Given the description of an element on the screen output the (x, y) to click on. 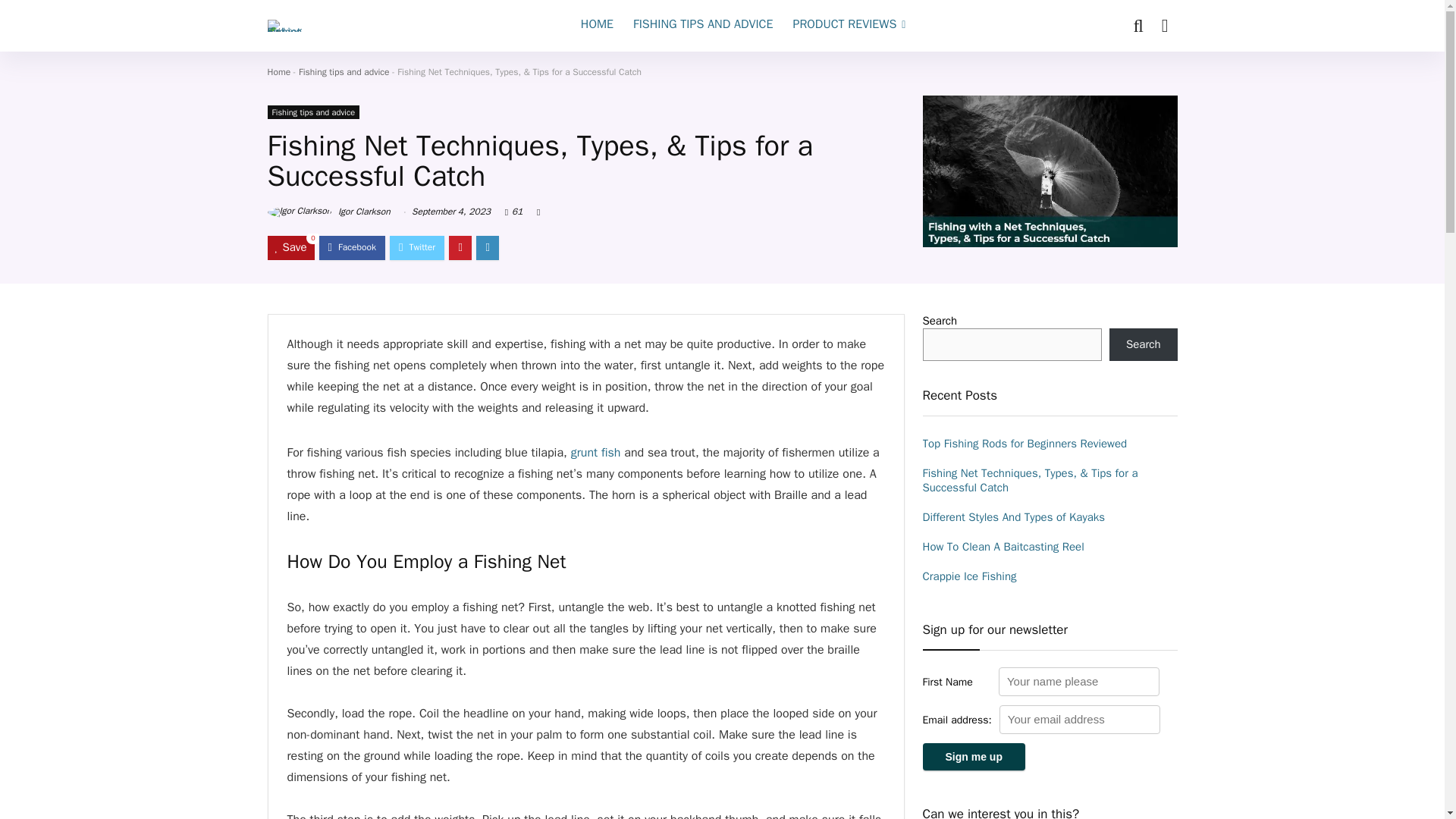
grunt fish (595, 452)
Fishing tips and advice (344, 71)
Sign me up (973, 756)
HOME (596, 25)
Search (1143, 344)
Fishing tips and advice (312, 111)
Crappie Ice Fishing (968, 576)
Top Fishing Rods for Beginners Reviewed (1023, 443)
Home (277, 71)
How To Clean A Baitcasting Reel (1002, 546)
